Given the description of an element on the screen output the (x, y) to click on. 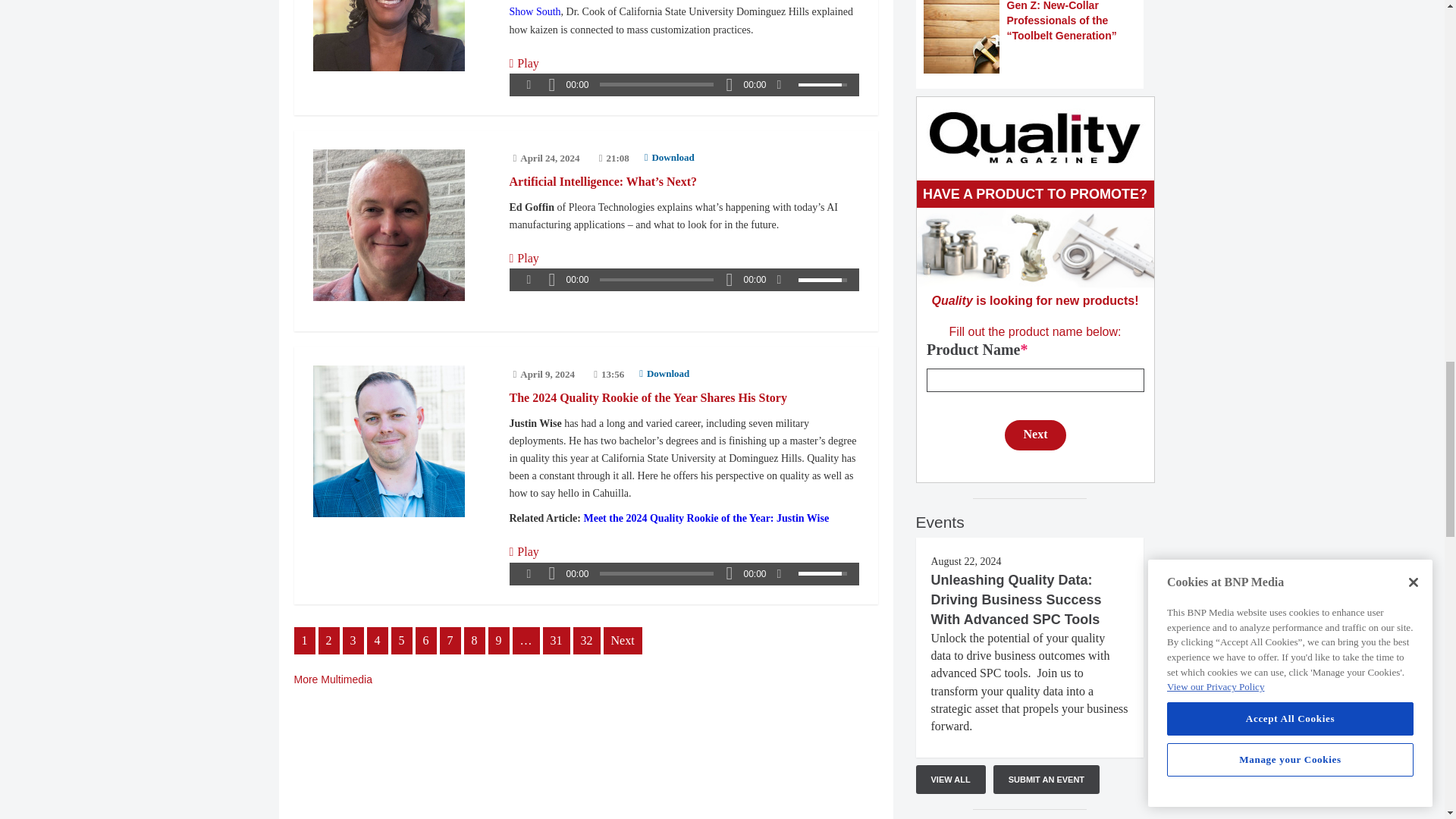
Interaction questions (1034, 394)
